Given the description of an element on the screen output the (x, y) to click on. 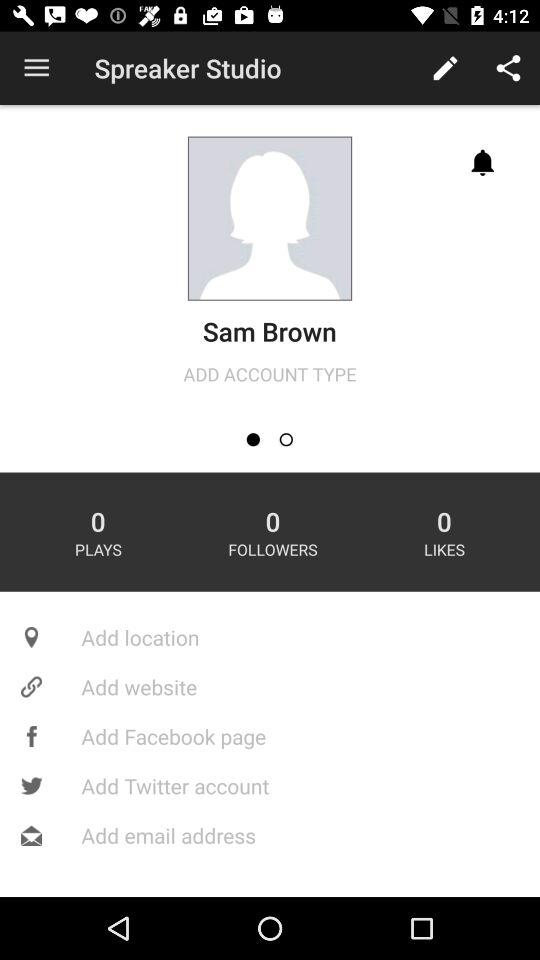
turn off item below add account type item (252, 439)
